Given the description of an element on the screen output the (x, y) to click on. 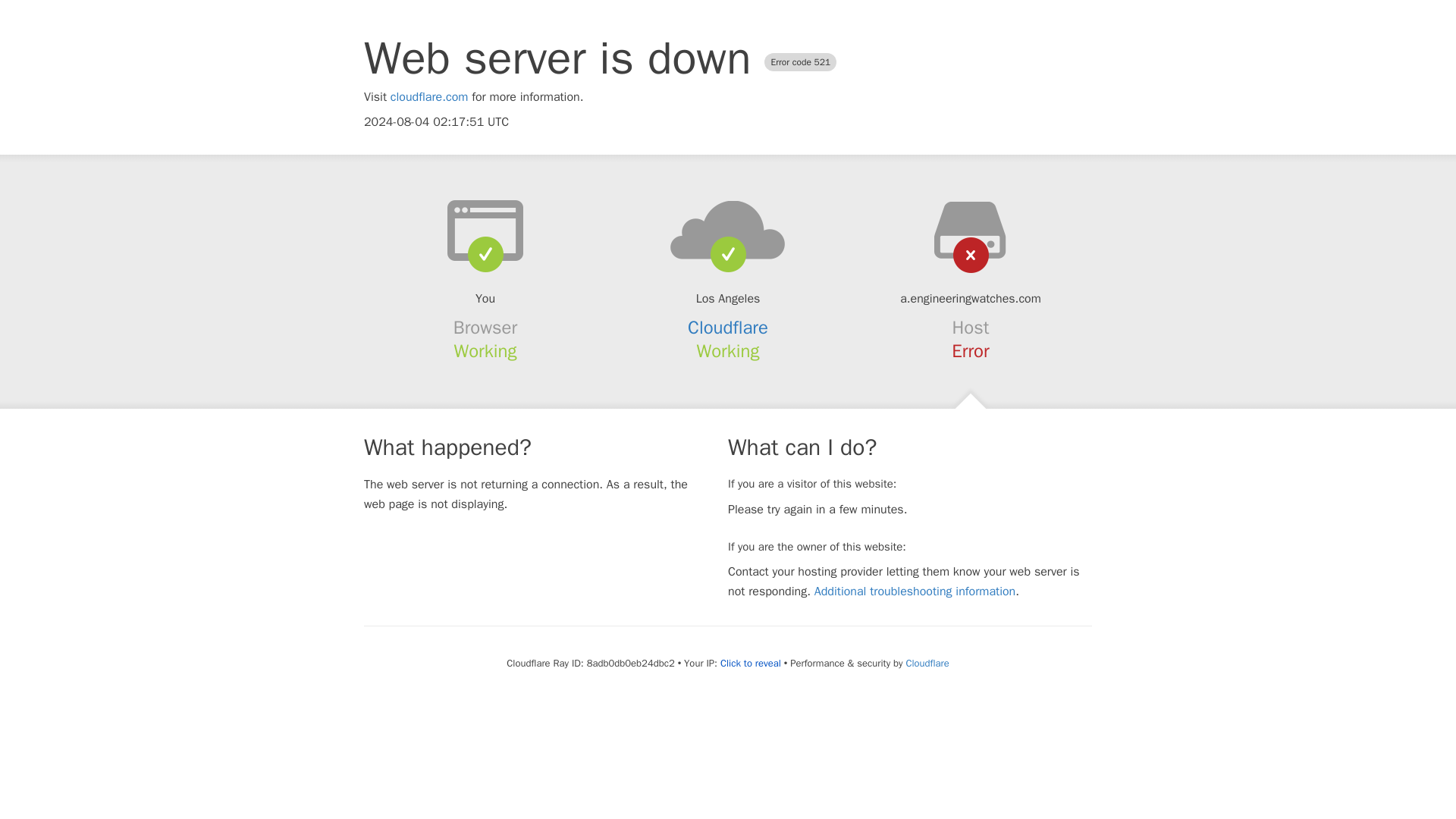
Click to reveal (750, 663)
Cloudflare (727, 327)
Additional troubleshooting information (913, 590)
Cloudflare (927, 662)
cloudflare.com (429, 96)
